Given the description of an element on the screen output the (x, y) to click on. 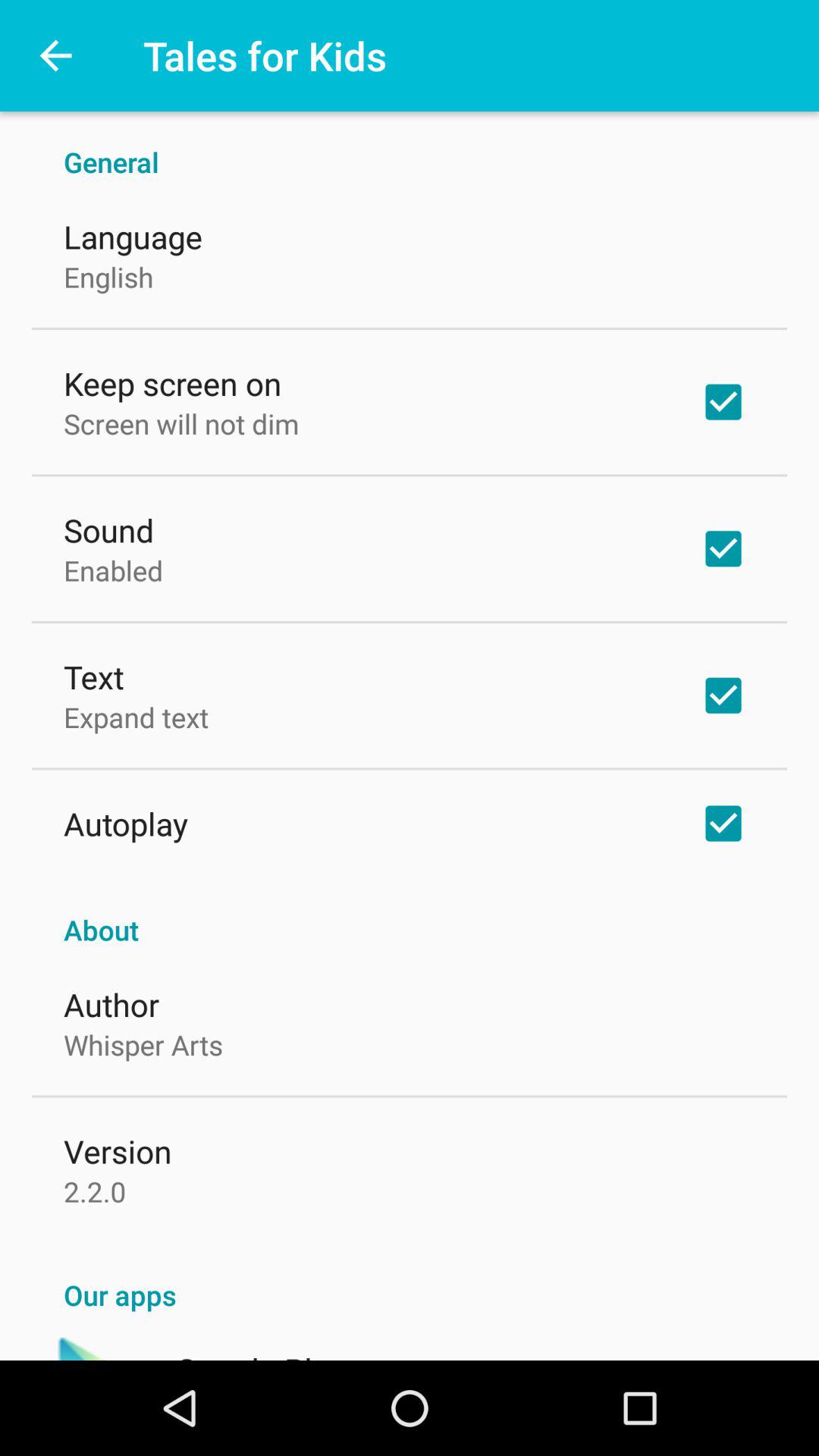
flip to author icon (111, 1004)
